Given the description of an element on the screen output the (x, y) to click on. 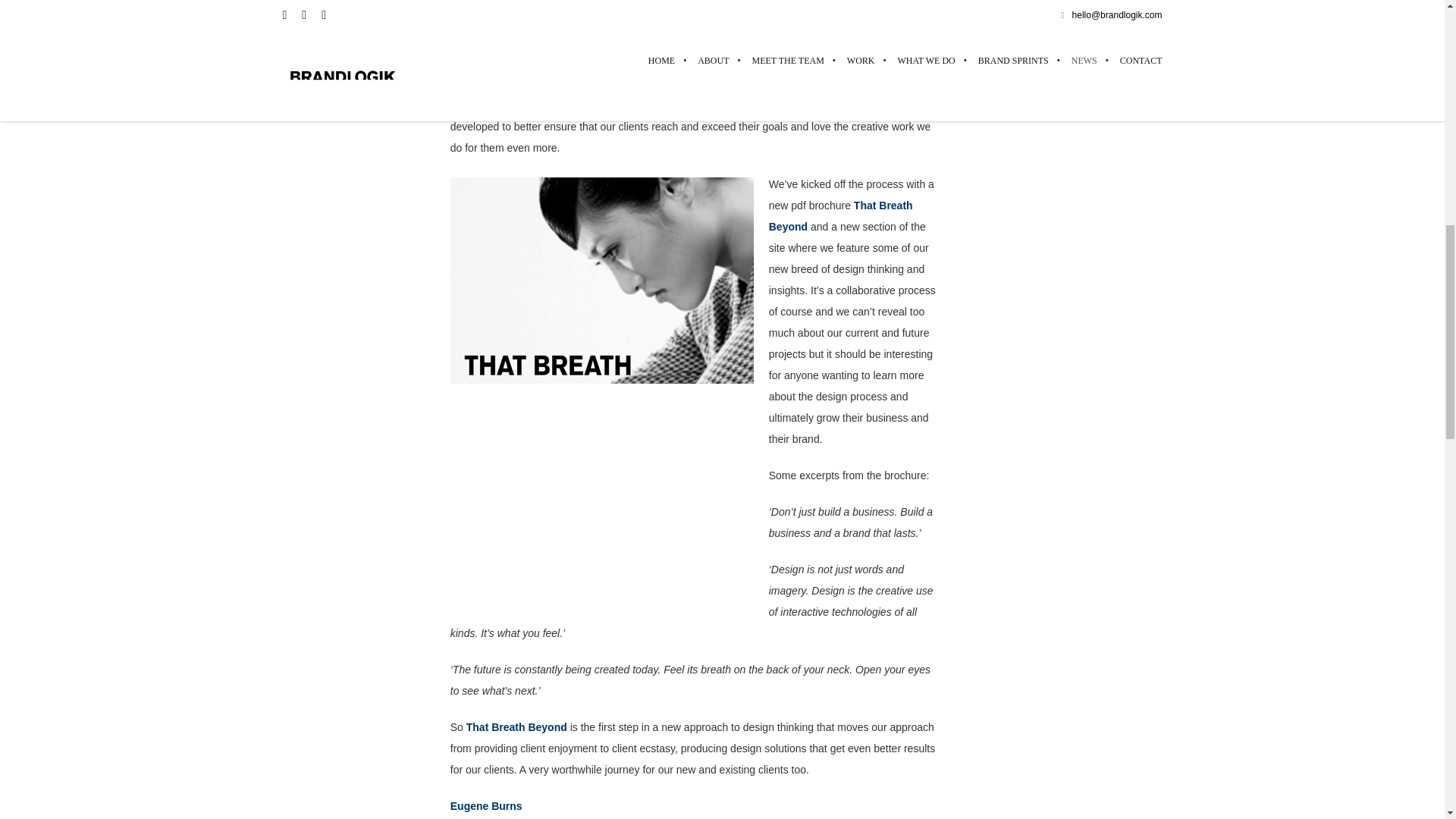
That Breath Beyond (840, 215)
That Breath Beyond (515, 727)
That Breath Beyond (840, 215)
That Breath Beyond (515, 727)
Eugene Burns LinkedIn (485, 806)
Eugene Burns (485, 806)
